Given the description of an element on the screen output the (x, y) to click on. 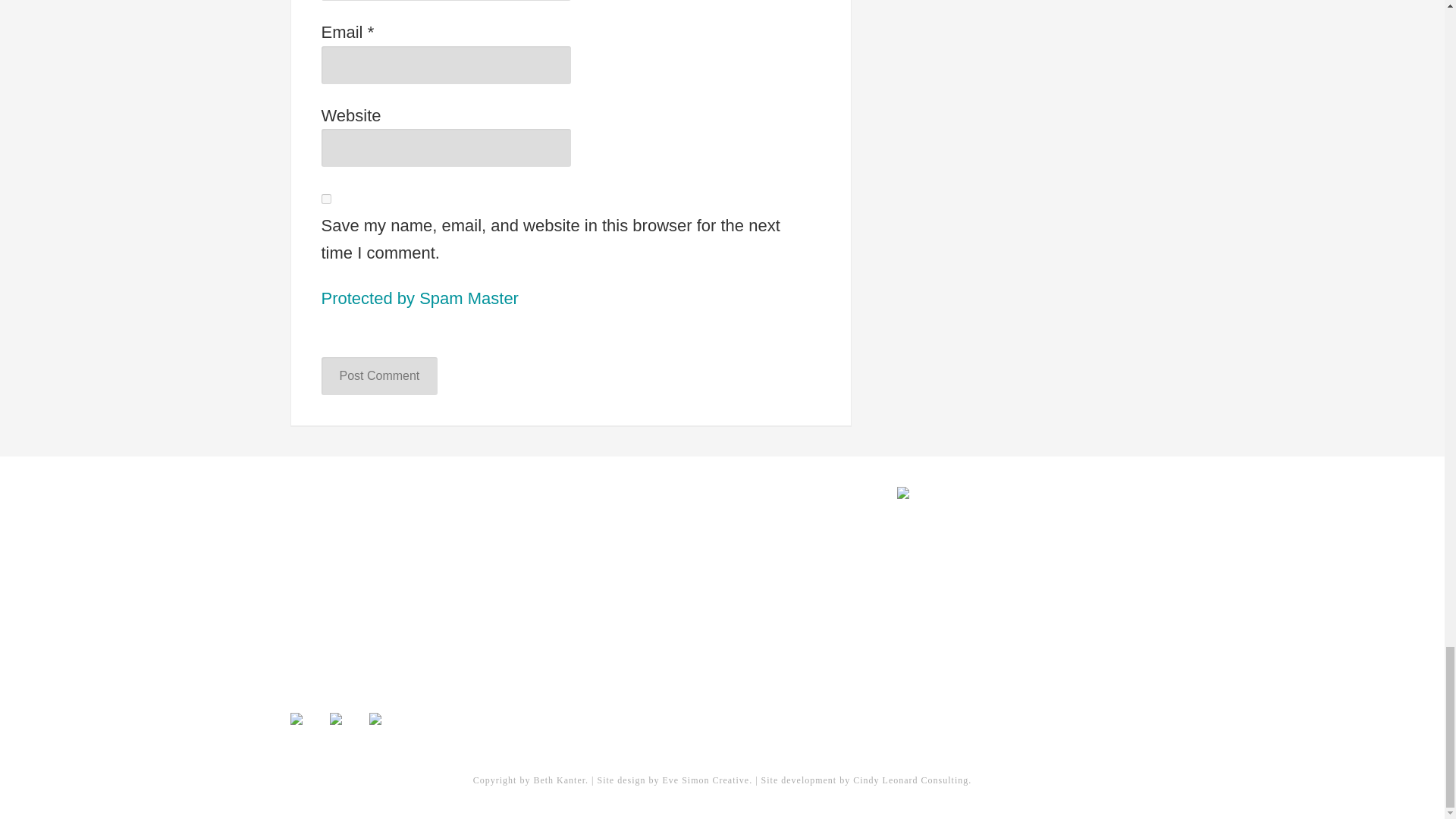
Post Comment (379, 375)
About Me (314, 548)
yes (326, 198)
Protected by Spam Master (419, 297)
Protected by Spam Master (419, 297)
Post Comment (379, 375)
